Given the description of an element on the screen output the (x, y) to click on. 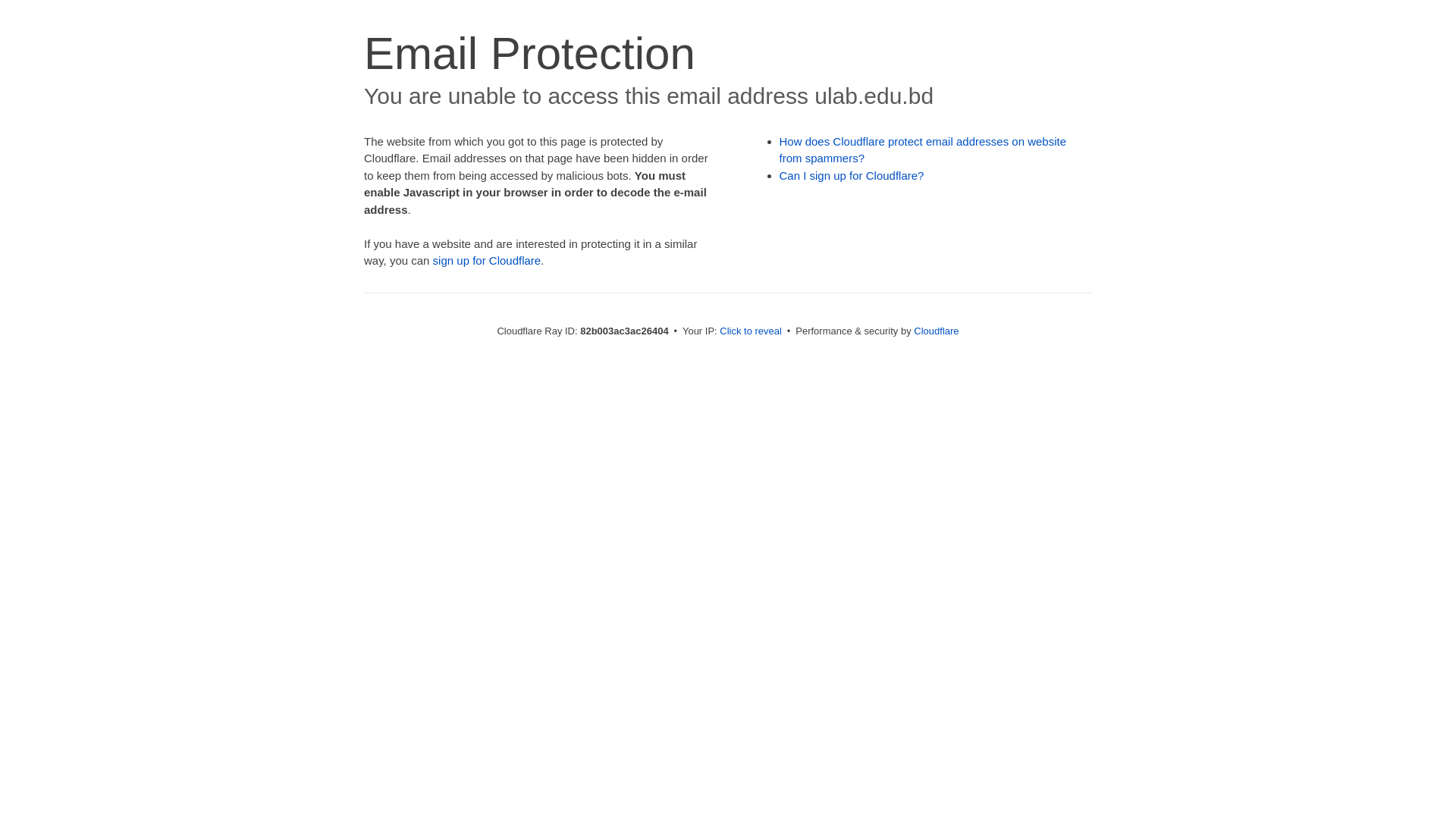
sign up for Cloudflare Element type: text (487, 260)
Cloudflare Element type: text (935, 330)
Click to reveal Element type: text (750, 330)
Can I sign up for Cloudflare? Element type: text (851, 175)
